Given the description of an element on the screen output the (x, y) to click on. 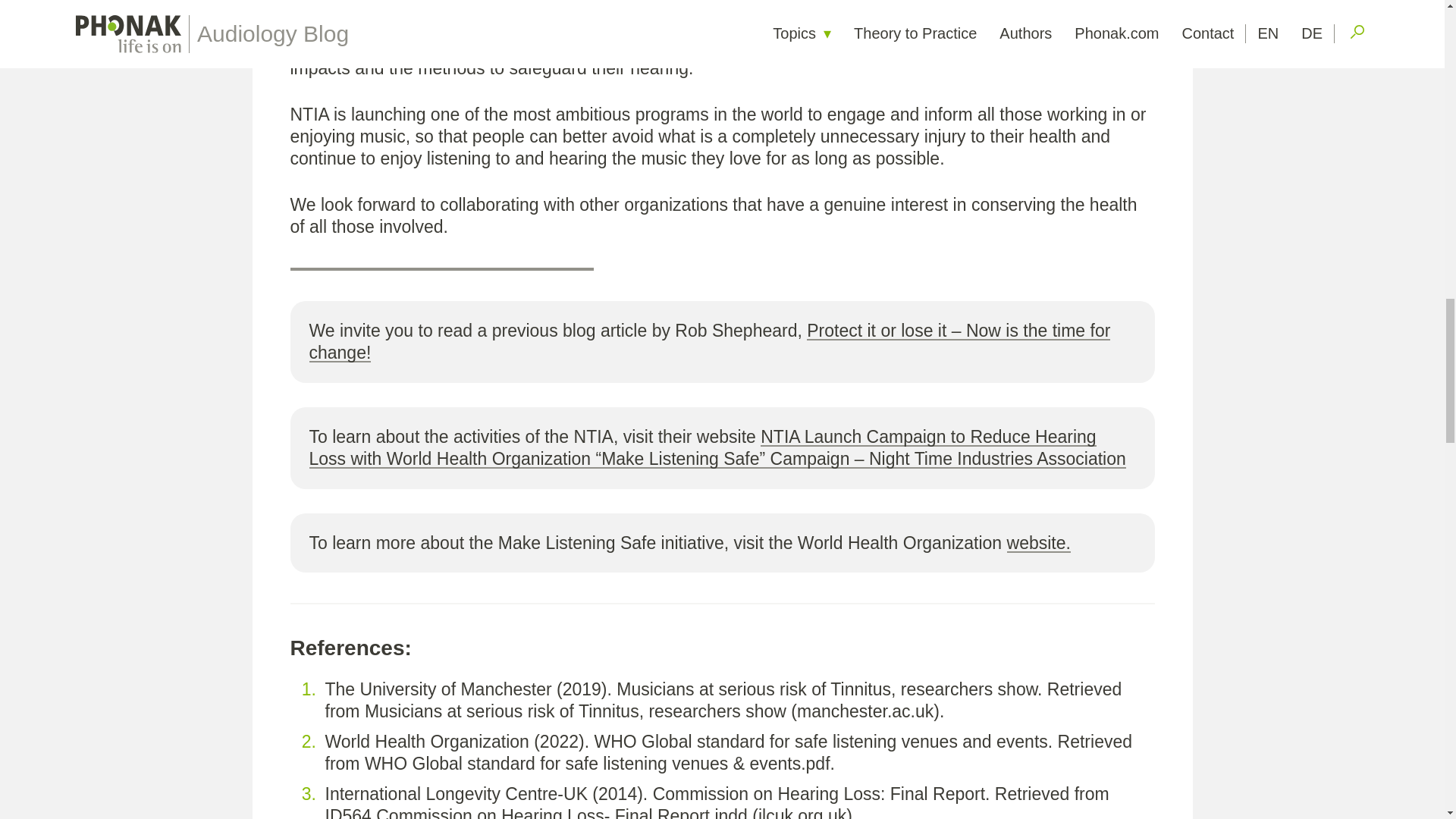
website. (1038, 542)
